Given the description of an element on the screen output the (x, y) to click on. 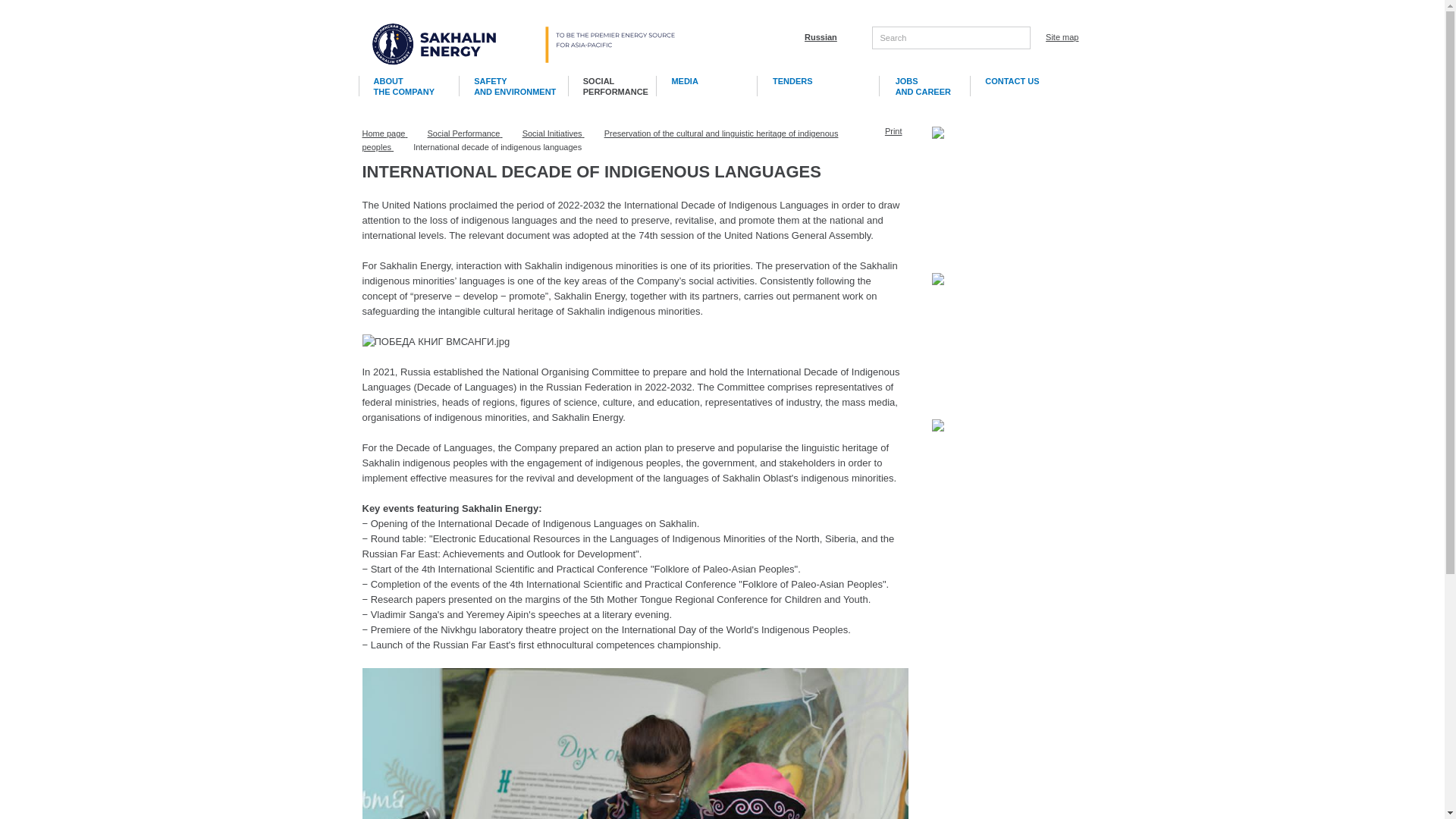
Social Initiatives (553, 133)
TENDERS (817, 81)
Social Performance (465, 133)
Russian (821, 36)
ABOUT THE COMPANY (408, 86)
CONTACT US (1016, 81)
Social Performance (465, 133)
Home page (384, 133)
SAFETY AND ENVIRONMENT (512, 86)
